Given the description of an element on the screen output the (x, y) to click on. 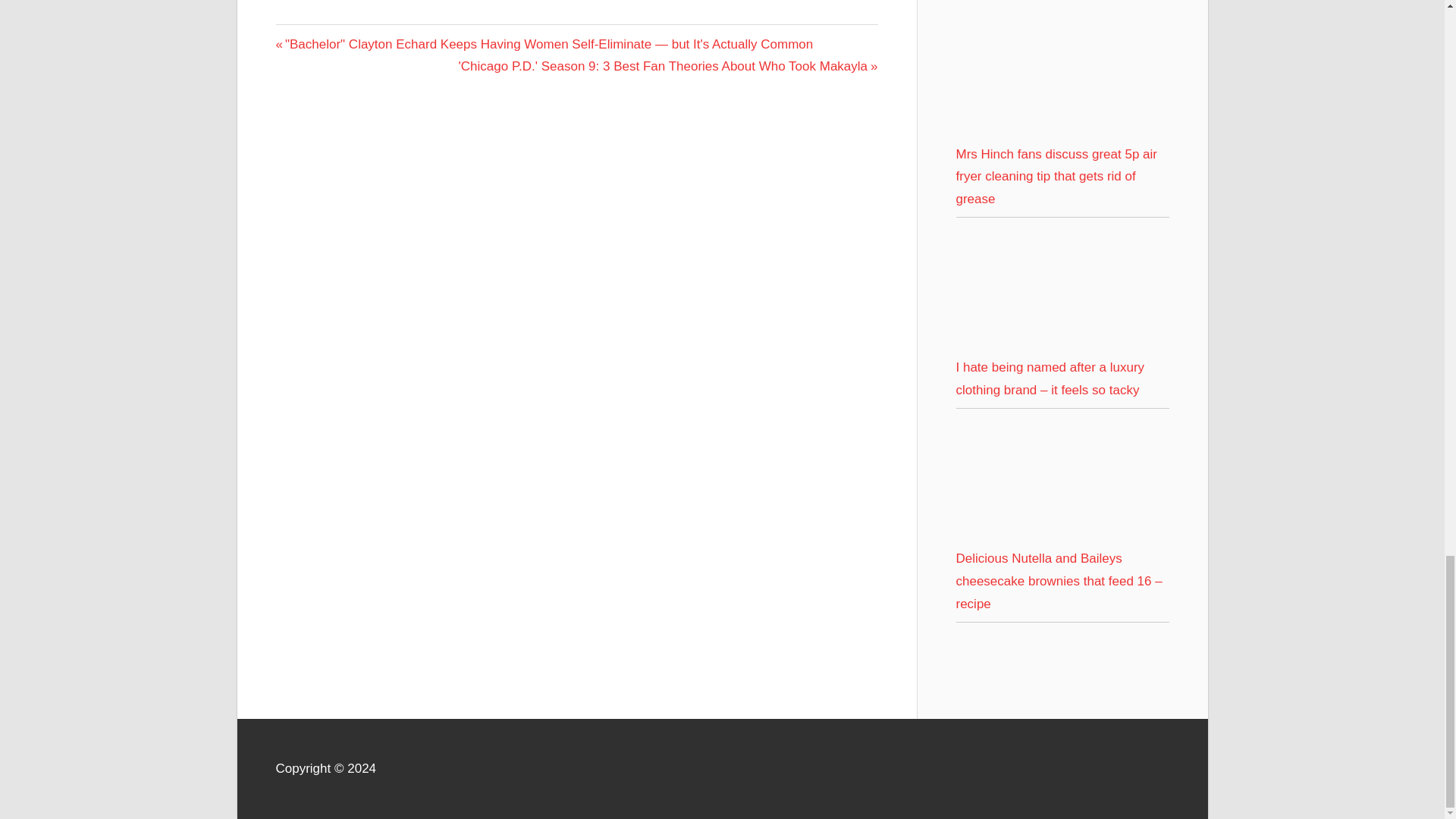
LIFESTYLE (312, 37)
